Given the description of an element on the screen output the (x, y) to click on. 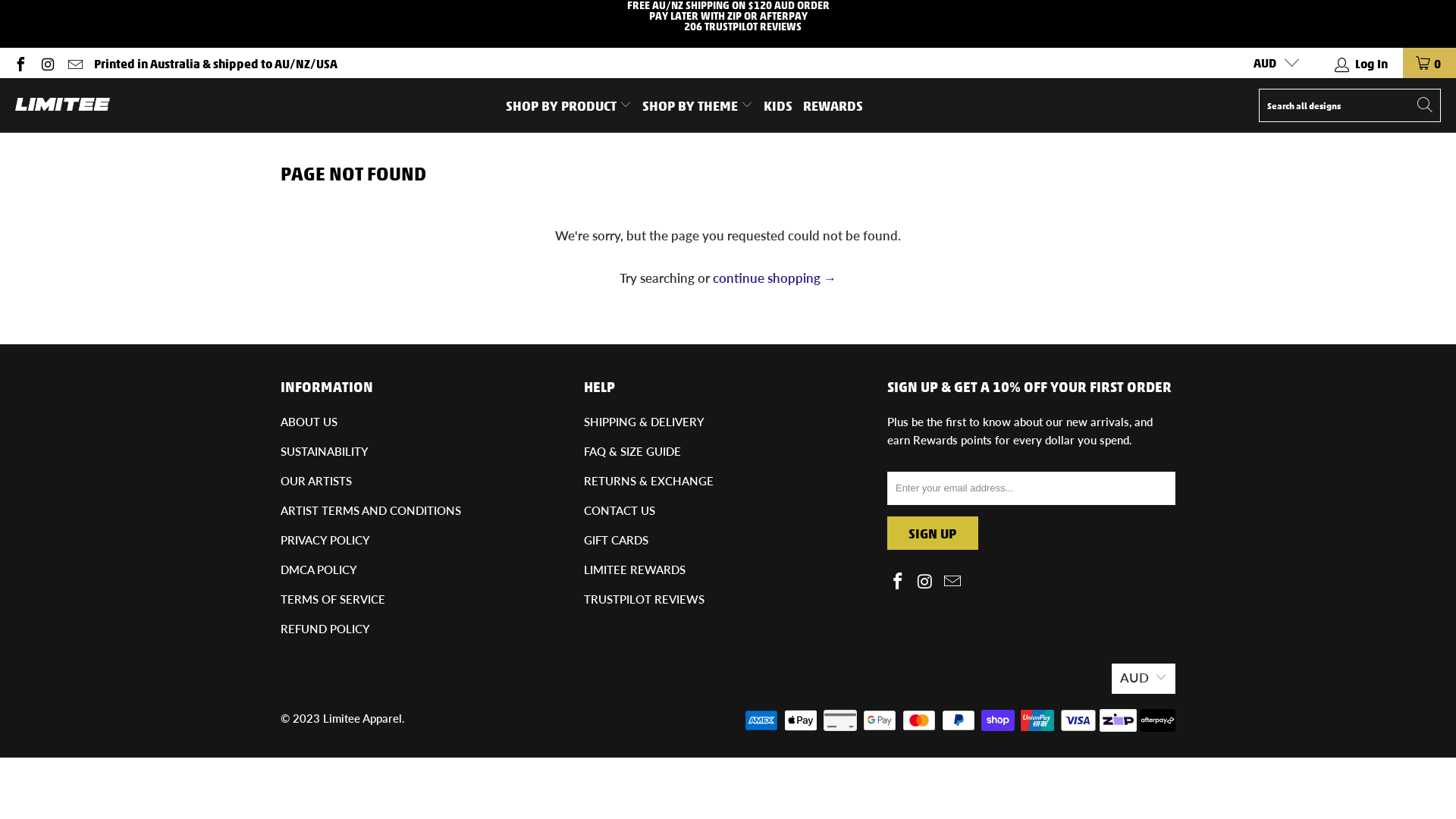
Limitee Apparel on Facebook Element type: hover (19, 62)
RETURNS & EXCHANGE Element type: text (648, 480)
AUD Element type: text (1143, 678)
SHOP BY PRODUCT Element type: text (568, 105)
CONTACT US Element type: text (619, 510)
ABOUT US Element type: text (308, 421)
PRIVACY POLICY Element type: text (325, 539)
Limitee Apparel Element type: text (362, 717)
OUR ARTISTS Element type: text (315, 480)
REWARDS Element type: text (832, 105)
ARTIST TERMS AND CONDITIONS Element type: text (370, 510)
FAQ & SIZE GUIDE Element type: text (631, 451)
GIFT CARDS Element type: text (615, 539)
DMCA POLICY Element type: text (318, 569)
SHIPPING & DELIVERY Element type: text (643, 421)
TERMS OF SERVICE Element type: text (332, 598)
Limitee Apparel on Instagram Element type: hover (925, 581)
LIMITEE REWARDS Element type: text (634, 569)
TRUSTPILOT REVIEWS Element type: text (643, 598)
Printed in Australia & shipped to AU/NZ/USA Element type: text (215, 62)
Limitee Apparel Element type: hover (62, 104)
Email Limitee Apparel Element type: hover (952, 581)
Log In Element type: text (1361, 62)
AUD Element type: text (1270, 62)
Sign Up Element type: text (932, 532)
KIDS Element type: text (777, 105)
REFUND POLICY Element type: text (325, 628)
SHOP BY THEME Element type: text (697, 105)
Limitee Apparel on Facebook Element type: hover (898, 581)
SUSTAINABILITY Element type: text (324, 451)
Limitee Apparel on Instagram Element type: hover (46, 62)
Email Limitee Apparel Element type: hover (73, 62)
